Given the description of an element on the screen output the (x, y) to click on. 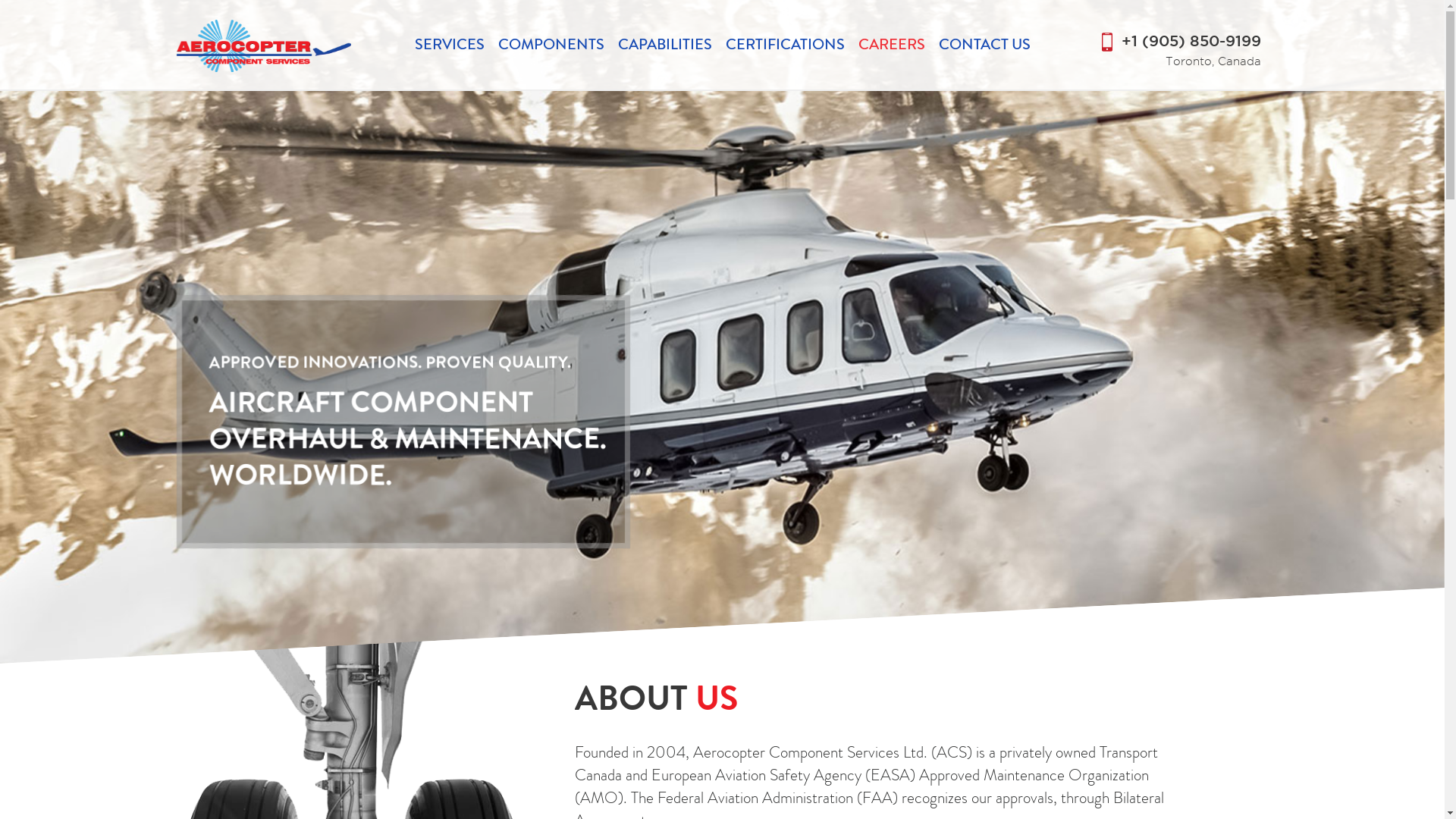
+1 (905) 850-9199 Element type: text (1190, 42)
CERTIFICATIONS Element type: text (784, 44)
CONTACT US Element type: text (984, 44)
CAREERS Element type: text (891, 44)
COMPONENTS Element type: text (550, 44)
CAPABILITIES Element type: text (664, 44)
SERVICES Element type: text (448, 44)
